Given the description of an element on the screen output the (x, y) to click on. 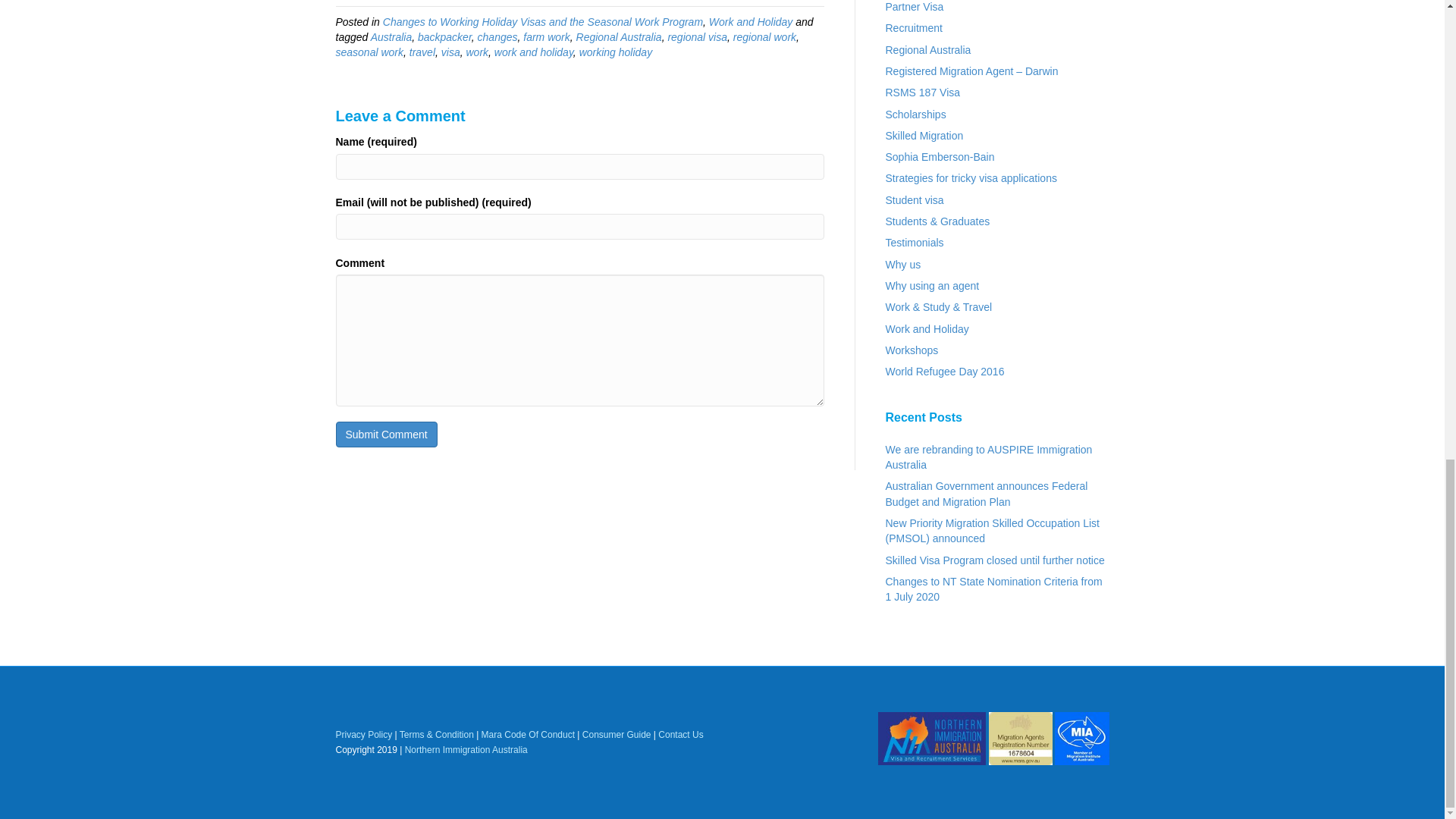
Submit Comment (385, 434)
Work and Holiday (751, 21)
